Given the description of an element on the screen output the (x, y) to click on. 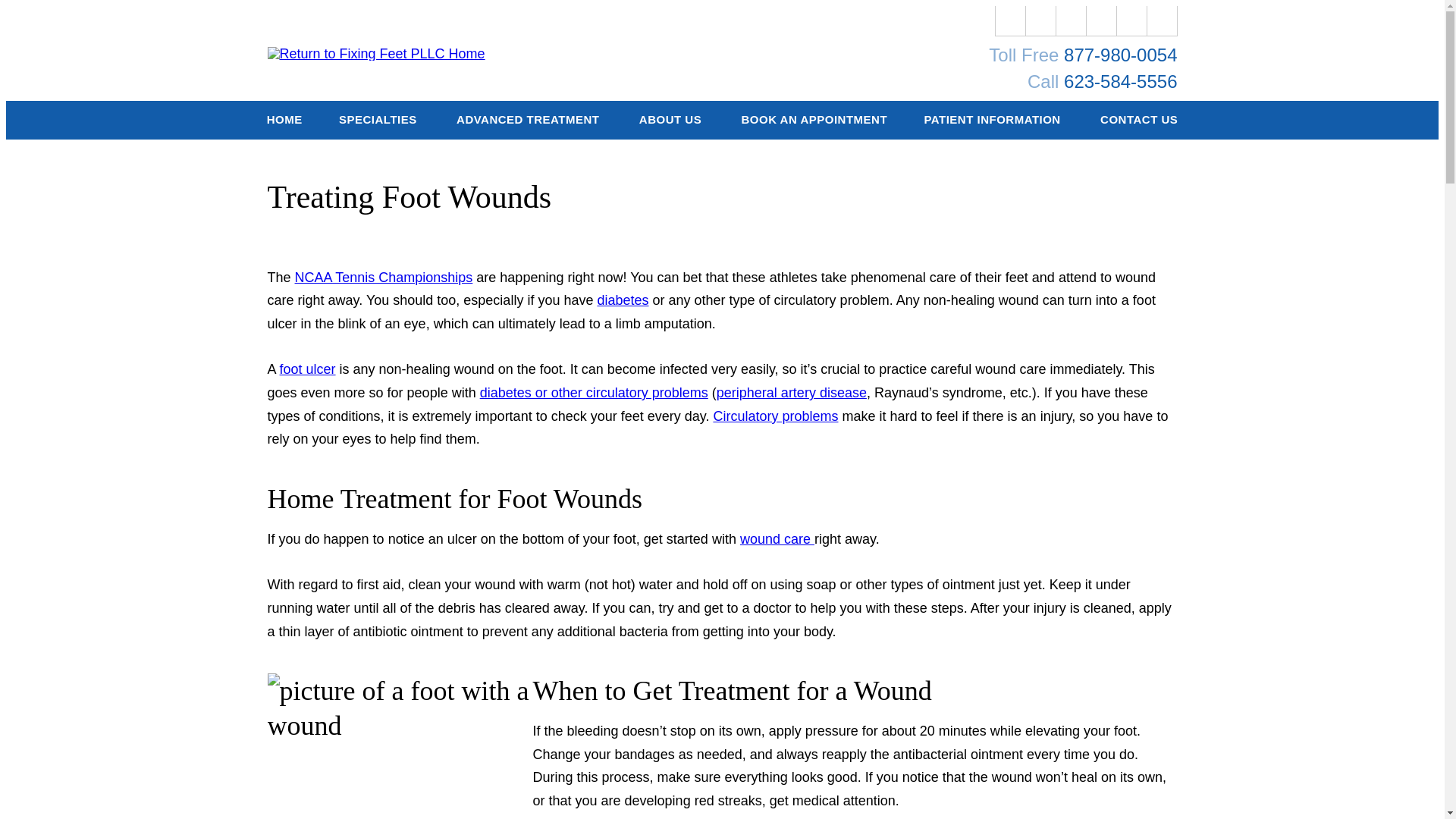
HOME (284, 119)
Learn more about diabetic foot ulcers (307, 368)
ABOUT US (672, 119)
SPECIALTIES (379, 119)
Learn more about PAD (791, 392)
Search (1161, 20)
ADVANCED TREATMENT (529, 119)
